Given the description of an element on the screen output the (x, y) to click on. 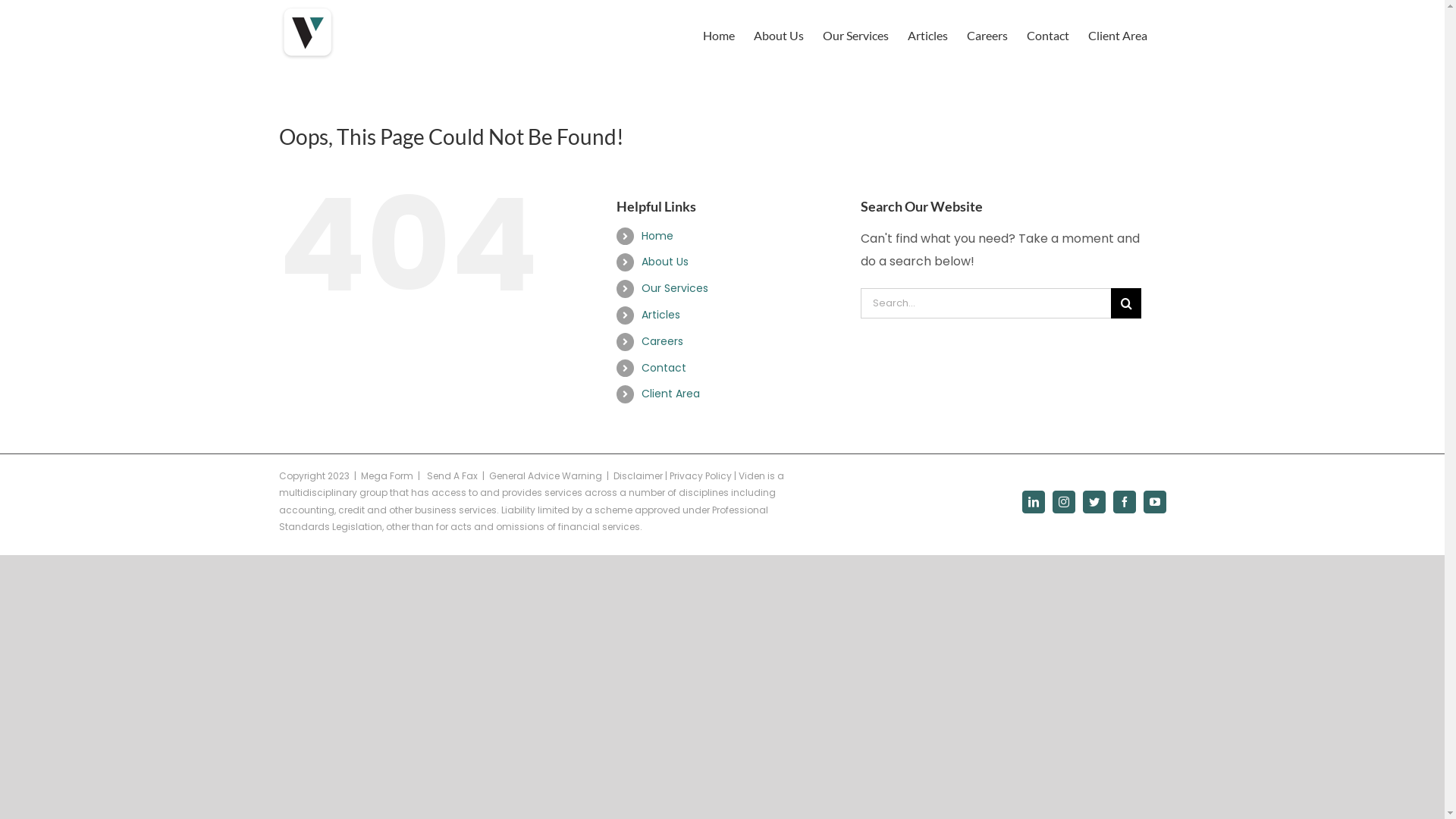
Twitter Element type: text (1093, 501)
Careers Element type: text (662, 340)
Articles Element type: text (660, 314)
Our Services Element type: text (855, 34)
About Us Element type: text (778, 34)
LinkedIn Element type: text (1033, 501)
About Us Element type: text (664, 261)
Mega Form Element type: text (386, 475)
YouTube Element type: text (1154, 501)
Client Area Element type: text (670, 393)
Disclaimer Element type: text (637, 475)
Our Services Element type: text (674, 287)
Privacy Policy Element type: text (699, 475)
Client Area Element type: text (1116, 34)
General Advice Warning Element type: text (544, 475)
Careers Element type: text (986, 34)
Articles Element type: text (926, 34)
Contact Element type: text (663, 367)
Facebook Element type: text (1124, 501)
Home Element type: text (718, 34)
Home Element type: text (657, 235)
Instagram Element type: text (1063, 501)
Send A Fax Element type: text (451, 475)
Contact Element type: text (1047, 34)
